Given the description of an element on the screen output the (x, y) to click on. 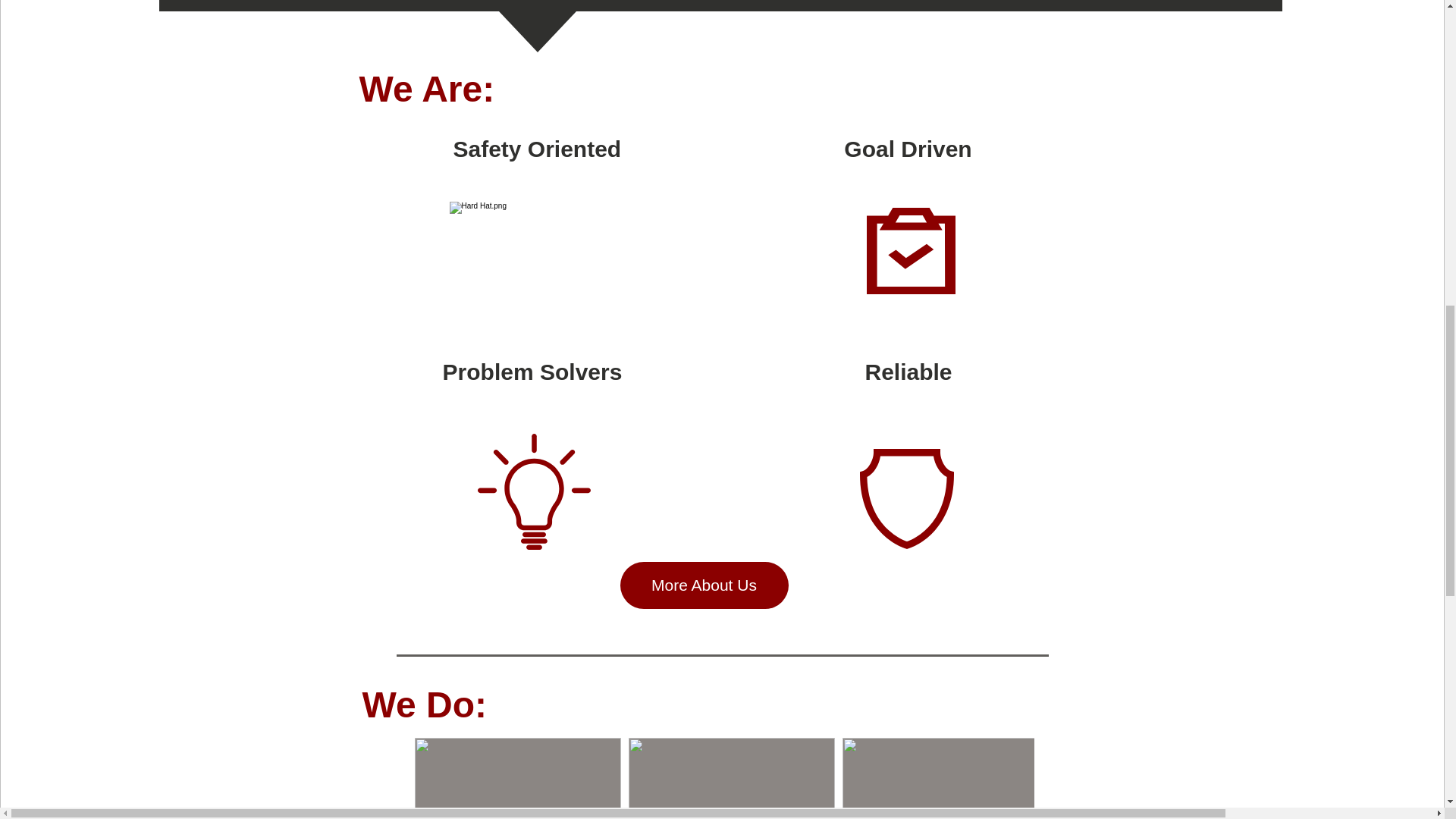
More About Us (704, 585)
